Given the description of an element on the screen output the (x, y) to click on. 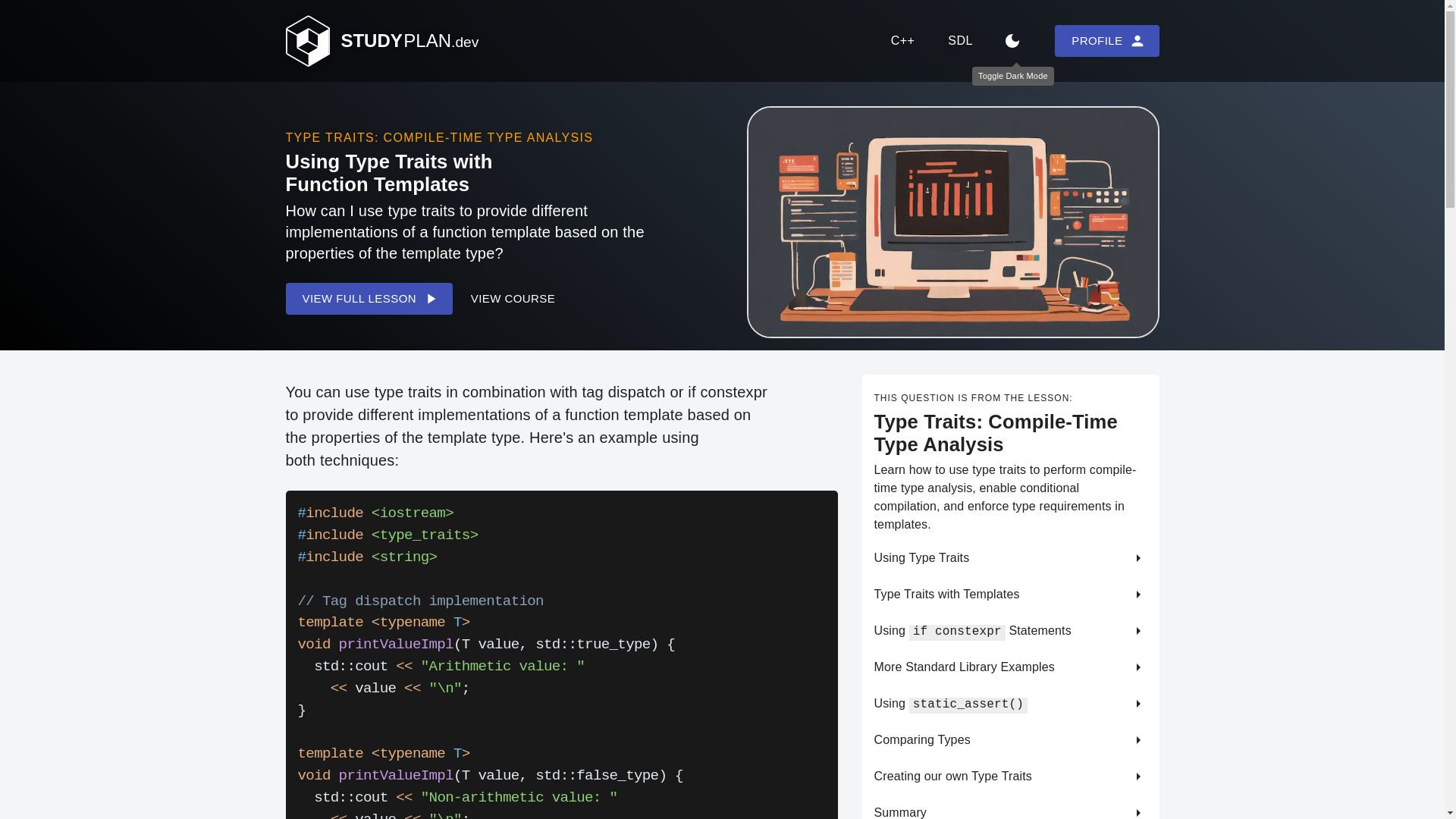
SDL (960, 40)
VIEW FULL LESSON (373, 306)
VIEW FULL LESSON (368, 298)
VIEW COURSE (518, 306)
STUDYPLAN.dev (381, 40)
STUDYPLAN.dev (389, 48)
VIEW COURSE (513, 298)
PROFILE (1106, 40)
